Given the description of an element on the screen output the (x, y) to click on. 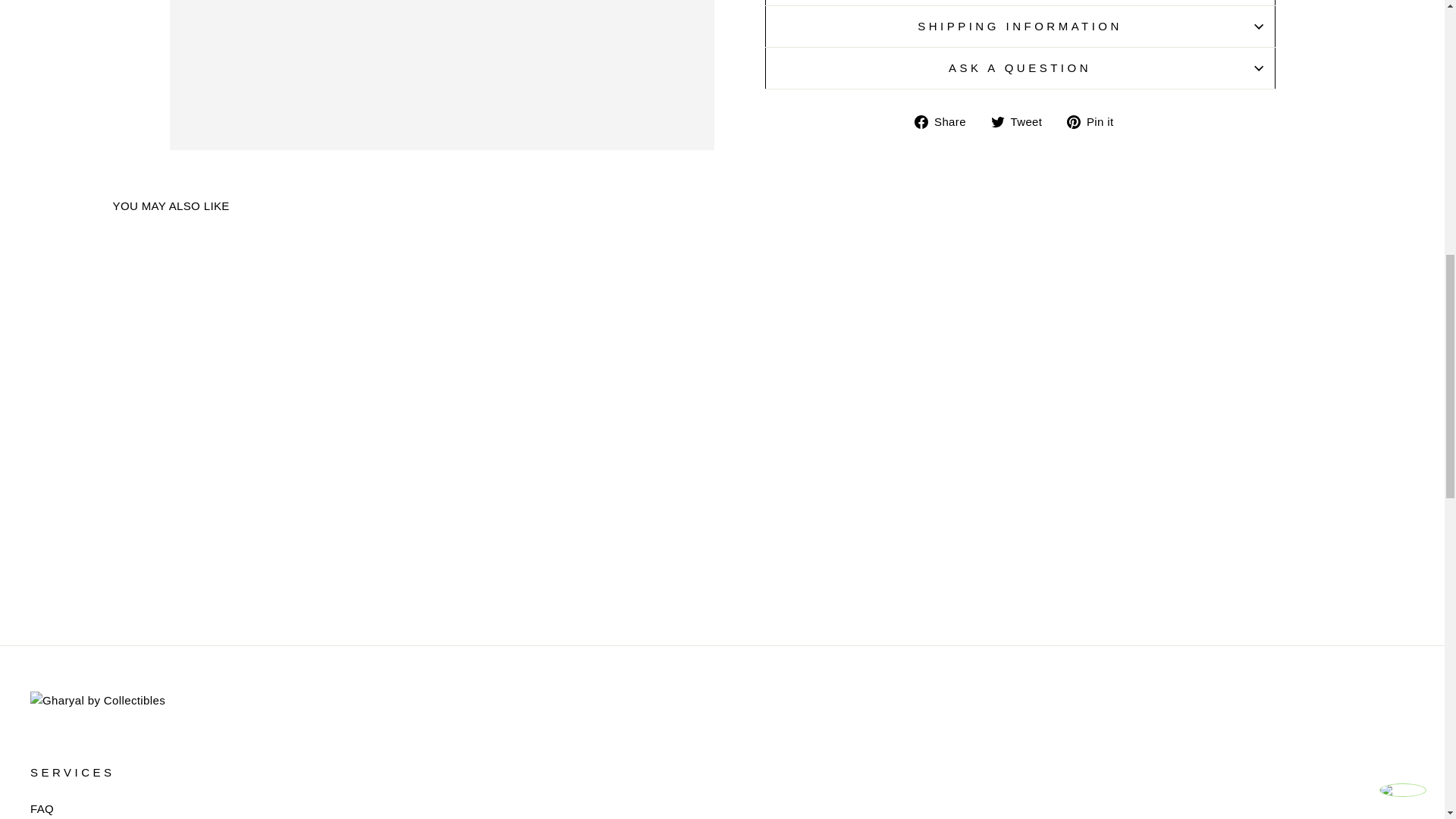
Tweet on Twitter (1021, 121)
Pin on Pinterest (1095, 121)
Share on Facebook (945, 121)
